Given the description of an element on the screen output the (x, y) to click on. 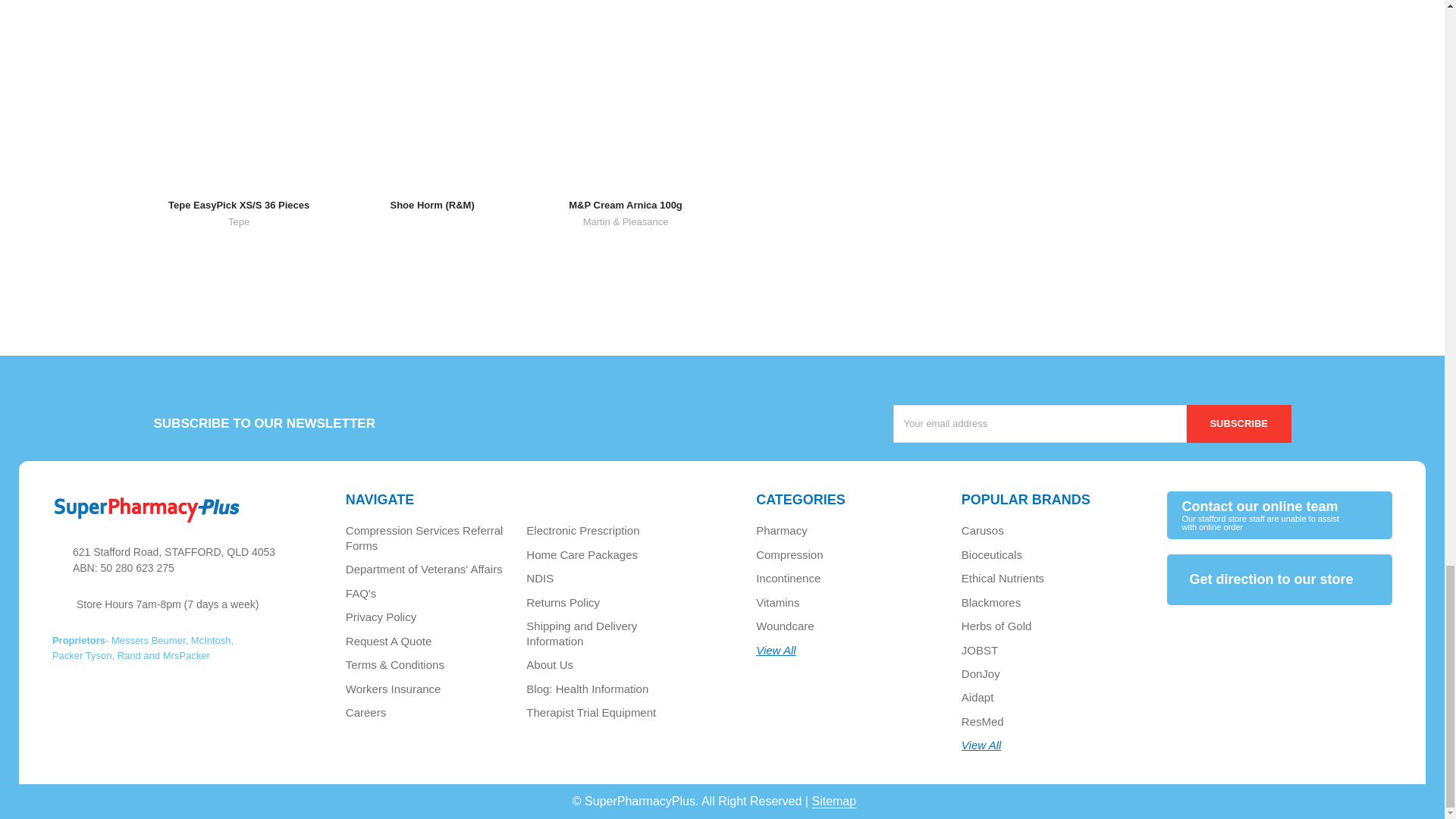
SuperPharmacyPlus (146, 510)
Subscribe (1238, 423)
